Given the description of an element on the screen output the (x, y) to click on. 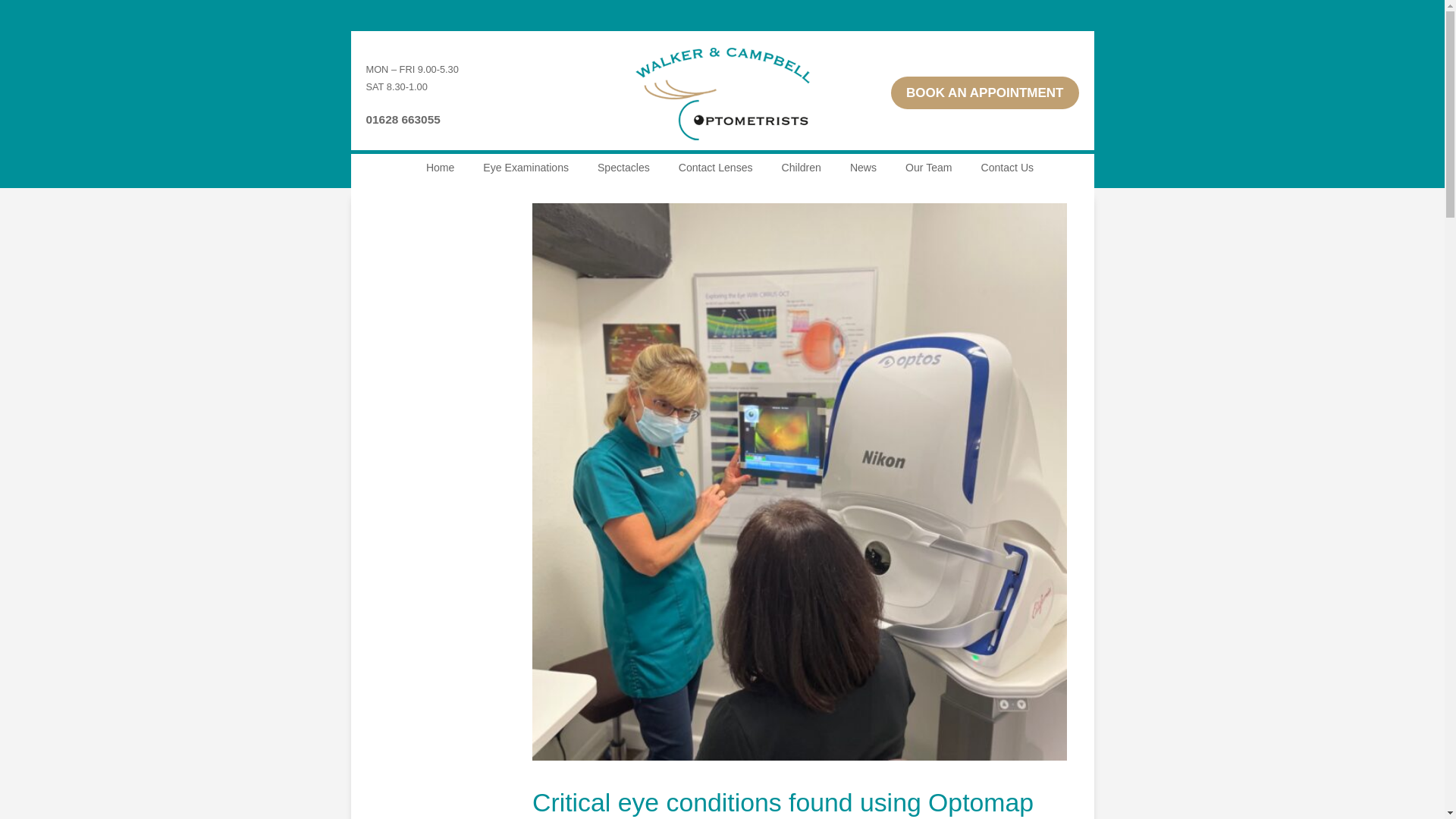
Eye Examinations (526, 167)
BOOK AN APPOINTMENT (984, 92)
Contact Lenses (715, 167)
News (863, 167)
Home (440, 167)
Children (801, 167)
Our Team (928, 167)
Contact Us (1006, 167)
Spectacles (622, 167)
